Given the description of an element on the screen output the (x, y) to click on. 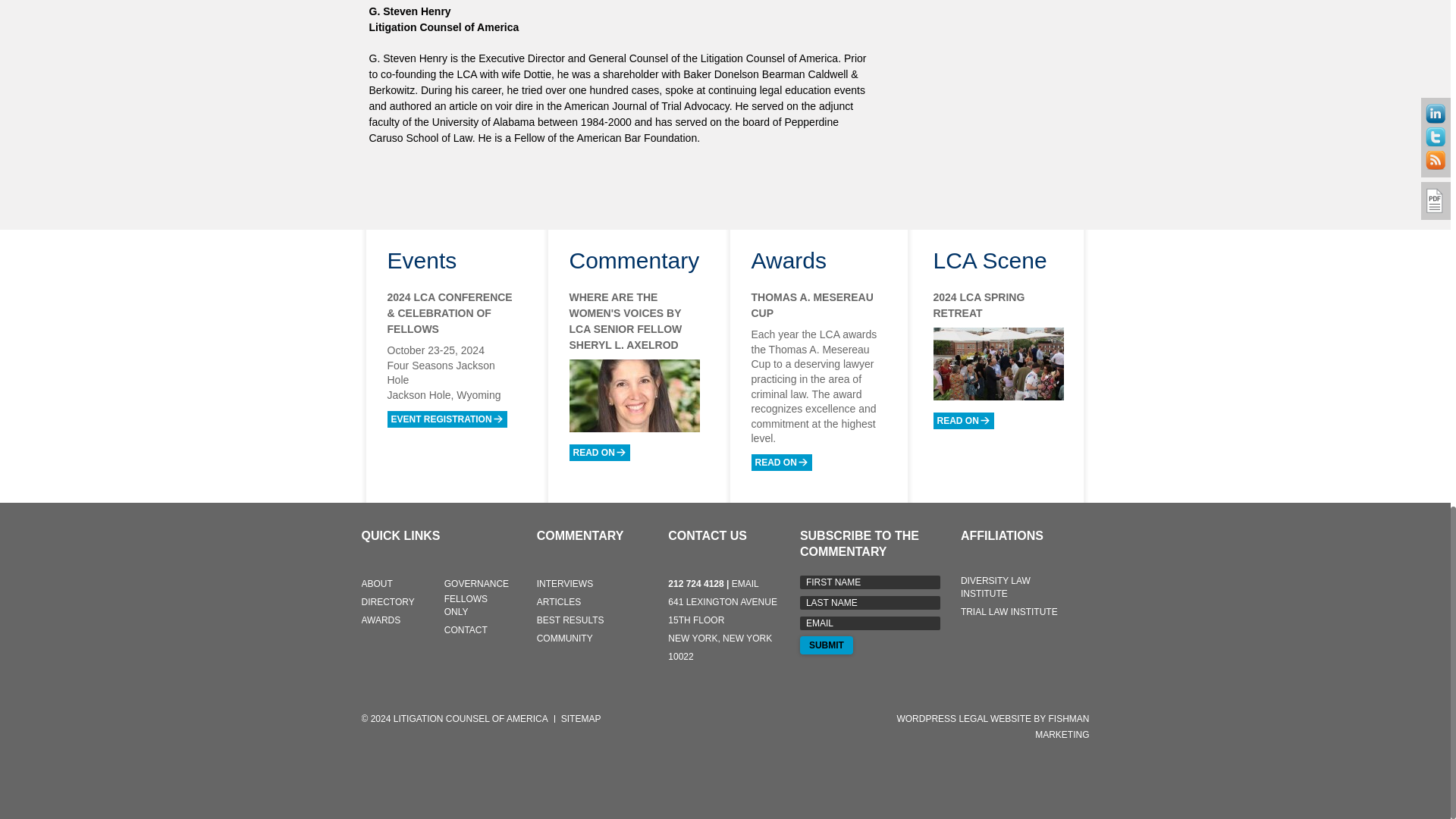
FIRST NAME (869, 581)
FIRST NAME (869, 581)
LAST NAME (869, 602)
submit (826, 645)
EMAIL (869, 622)
LAST NAME (869, 602)
EMAIL (869, 622)
